Given the description of an element on the screen output the (x, y) to click on. 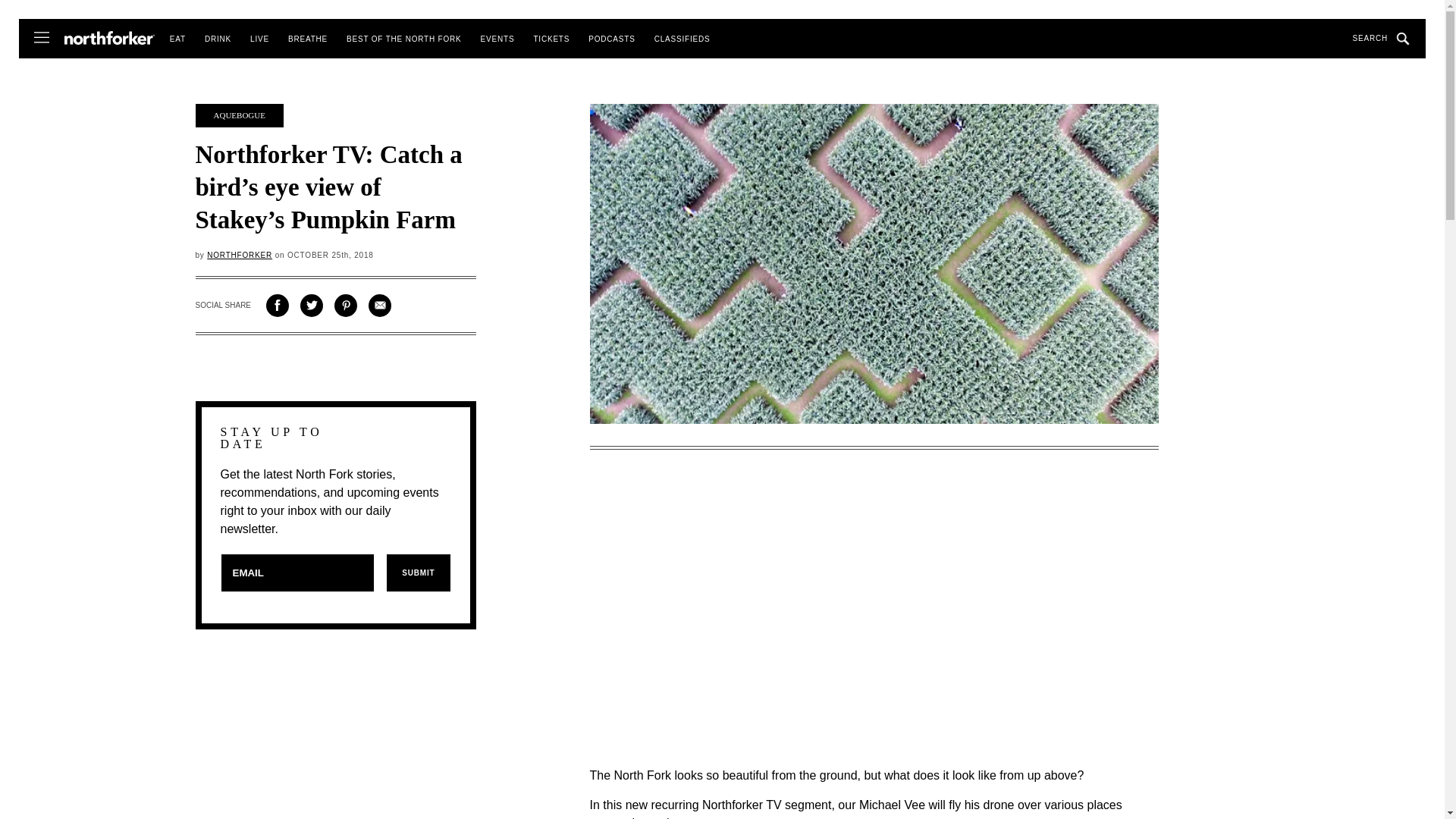
EVENTS (497, 39)
BEST OF THE NORTH FORK (403, 39)
TICKETS (550, 39)
LIVE (259, 39)
PODCASTS (611, 39)
BREATHE (307, 39)
Share via email. (379, 305)
Share via pinterest. (345, 305)
Submit (417, 572)
Tweet this! (311, 305)
